Given the description of an element on the screen output the (x, y) to click on. 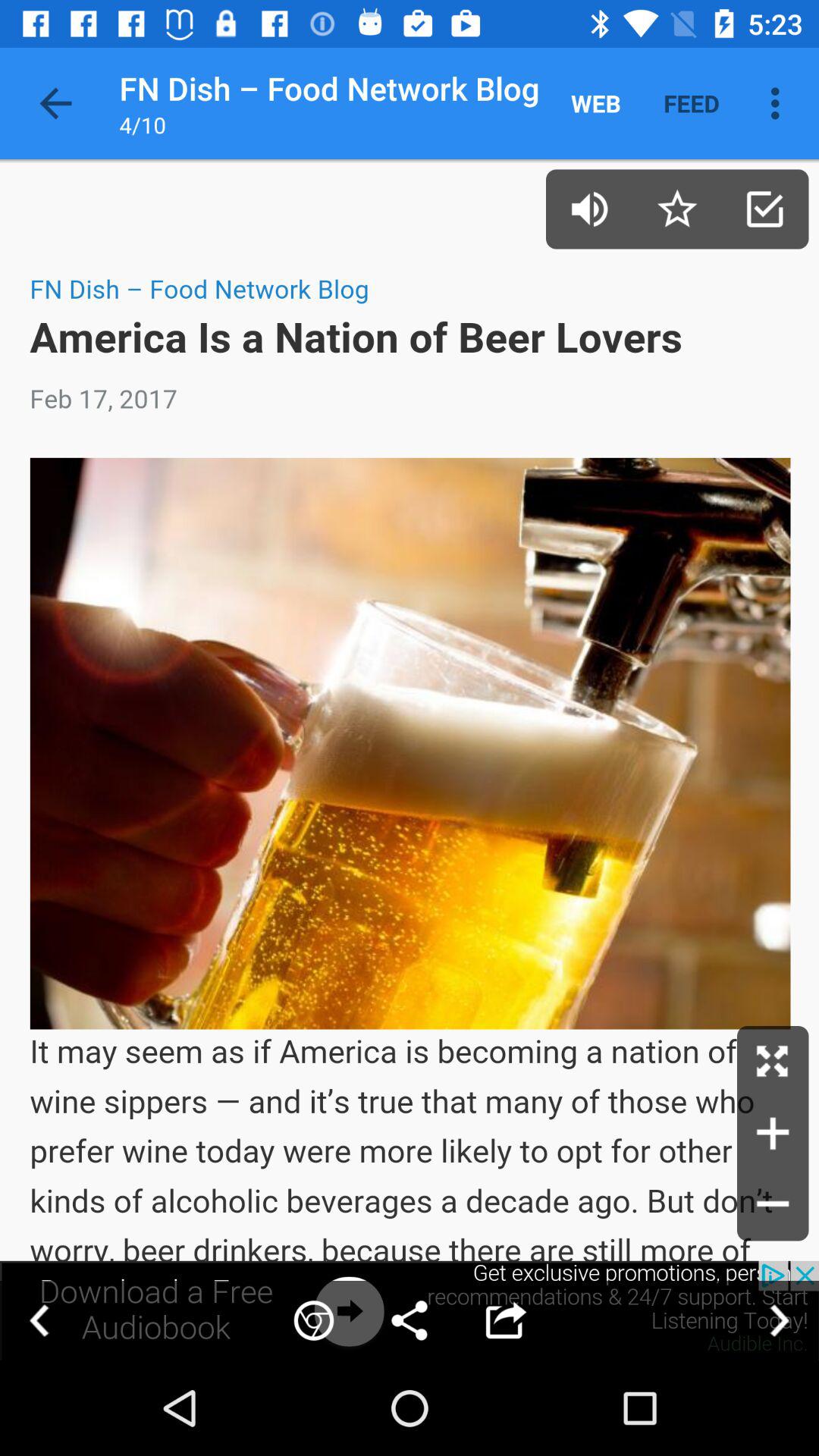
open an advertisement (409, 1310)
